Given the description of an element on the screen output the (x, y) to click on. 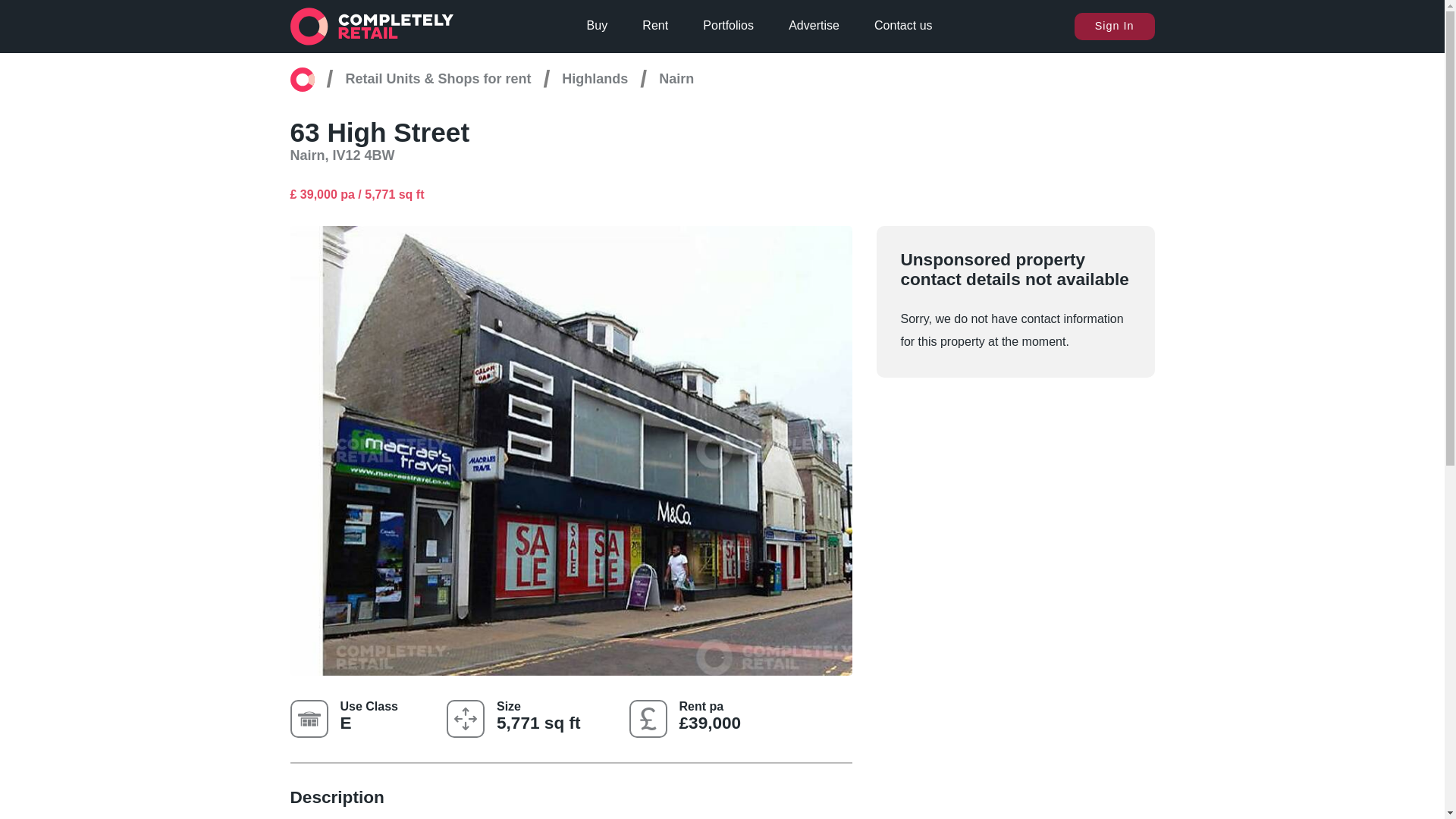
Buy (597, 26)
Sign In (1114, 26)
Rent (655, 26)
Highlands (594, 79)
Portfolios (728, 26)
Nairn (676, 79)
Contact us (903, 26)
